Given the description of an element on the screen output the (x, y) to click on. 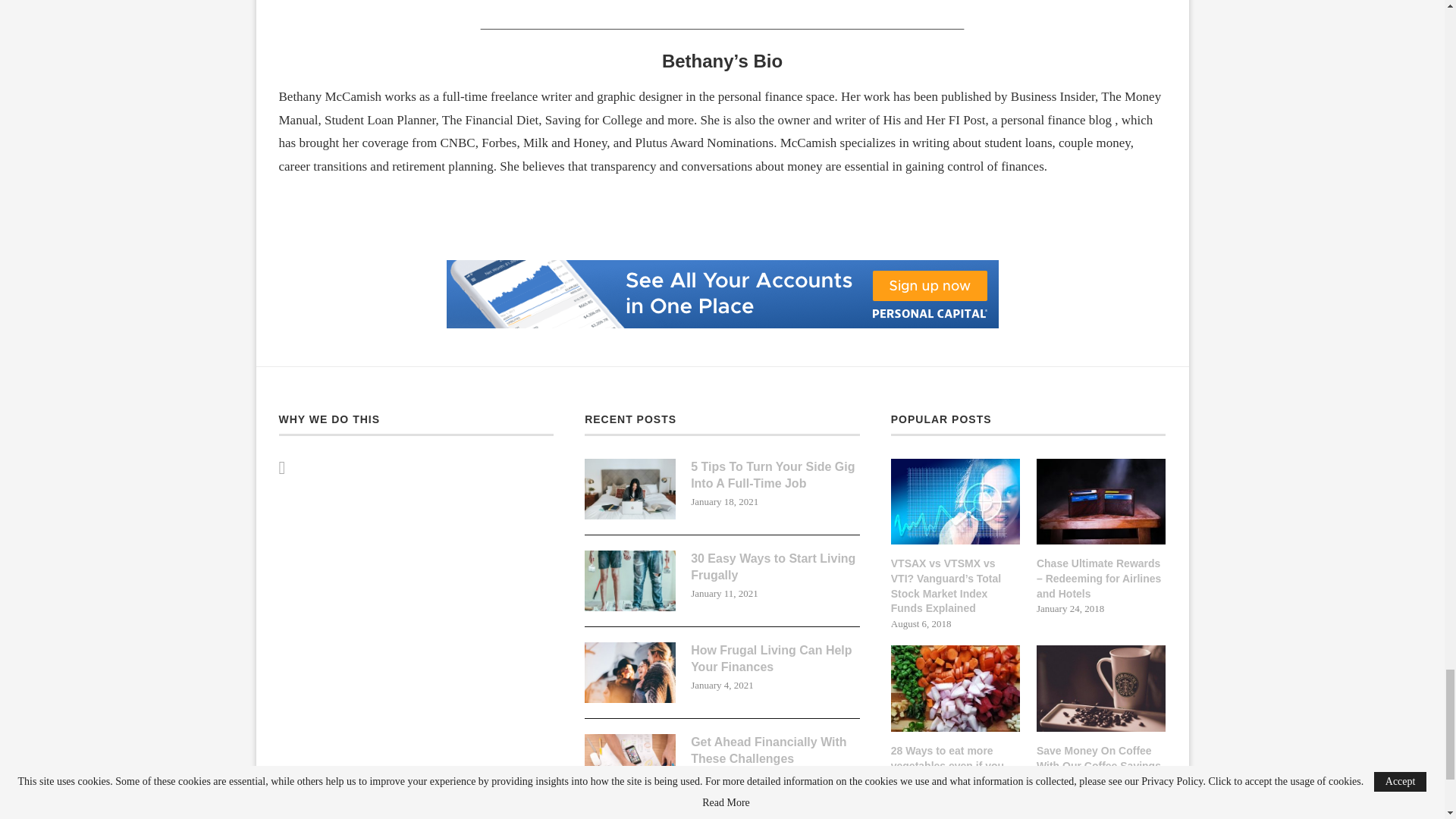
How Frugal Living Can Help Your Finances (775, 659)
5 Tips To Turn Your Side Gig Into A Full-Time Job (630, 488)
30 Easy Ways to Start Living Frugally (630, 580)
5 Tips To Turn Your Side Gig Into A Full-Time Job (775, 475)
28 Ways to eat more vegetables even if you hate them (955, 688)
Get Ahead Financially With These Challenges (630, 763)
How Frugal Living Can Help Your Finances (630, 672)
Get Ahead Financially With These Challenges (775, 750)
GDN Remarketing June 2018 - Interested (721, 265)
28 Ways to eat more vegetables even if you hate them (955, 765)
